Given the description of an element on the screen output the (x, y) to click on. 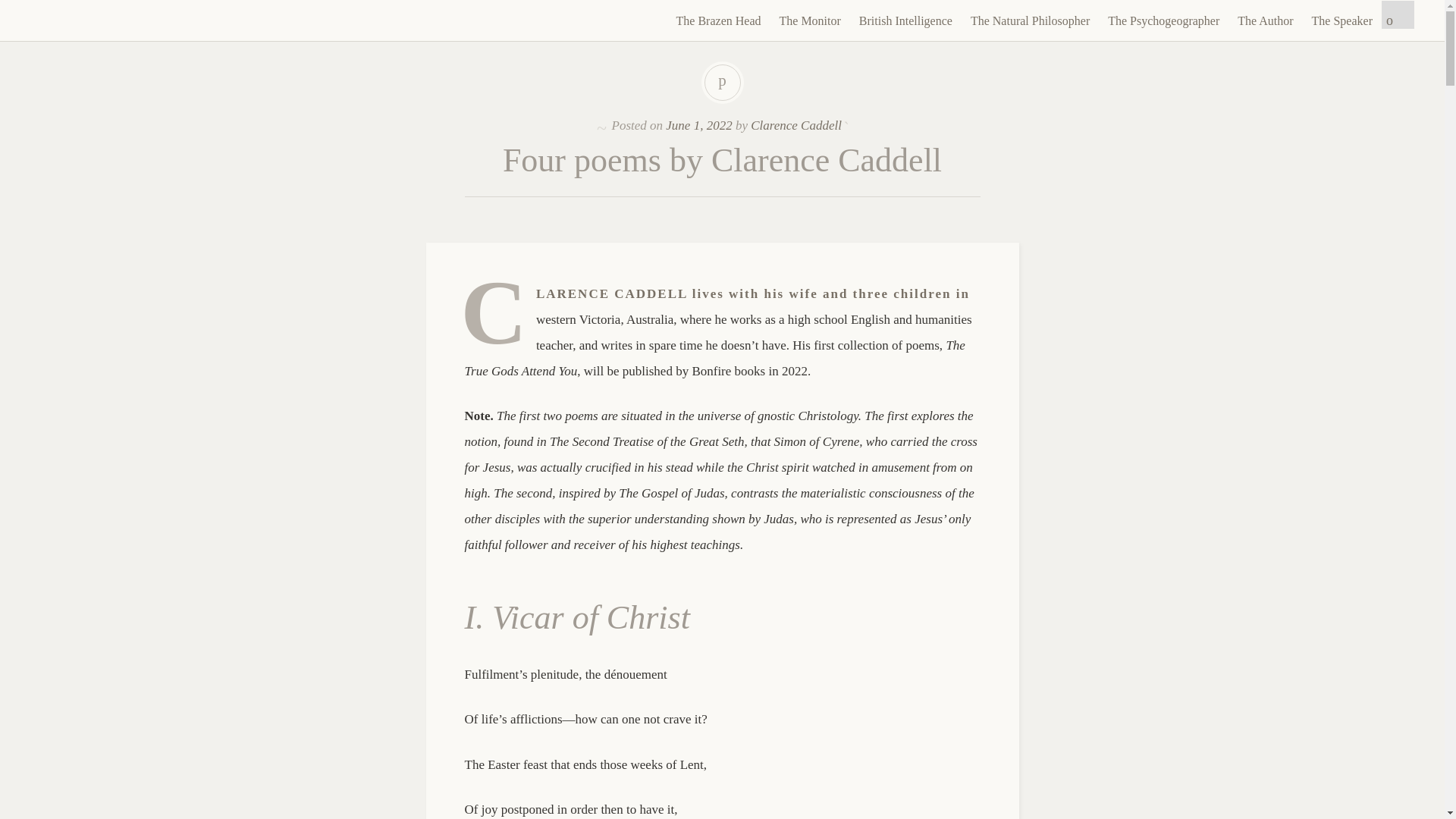
Search (11, 9)
The Brazen Head (125, 19)
The Author (1265, 21)
The Brazen Head (125, 19)
Clarence Caddell (796, 124)
The Speaker (1342, 21)
The Natural Philosopher (1029, 21)
June 1, 2022 (698, 124)
The Psychogeographer (1163, 21)
The Brazen Head (718, 21)
The Monitor (809, 21)
British Intelligence (905, 21)
